Given the description of an element on the screen output the (x, y) to click on. 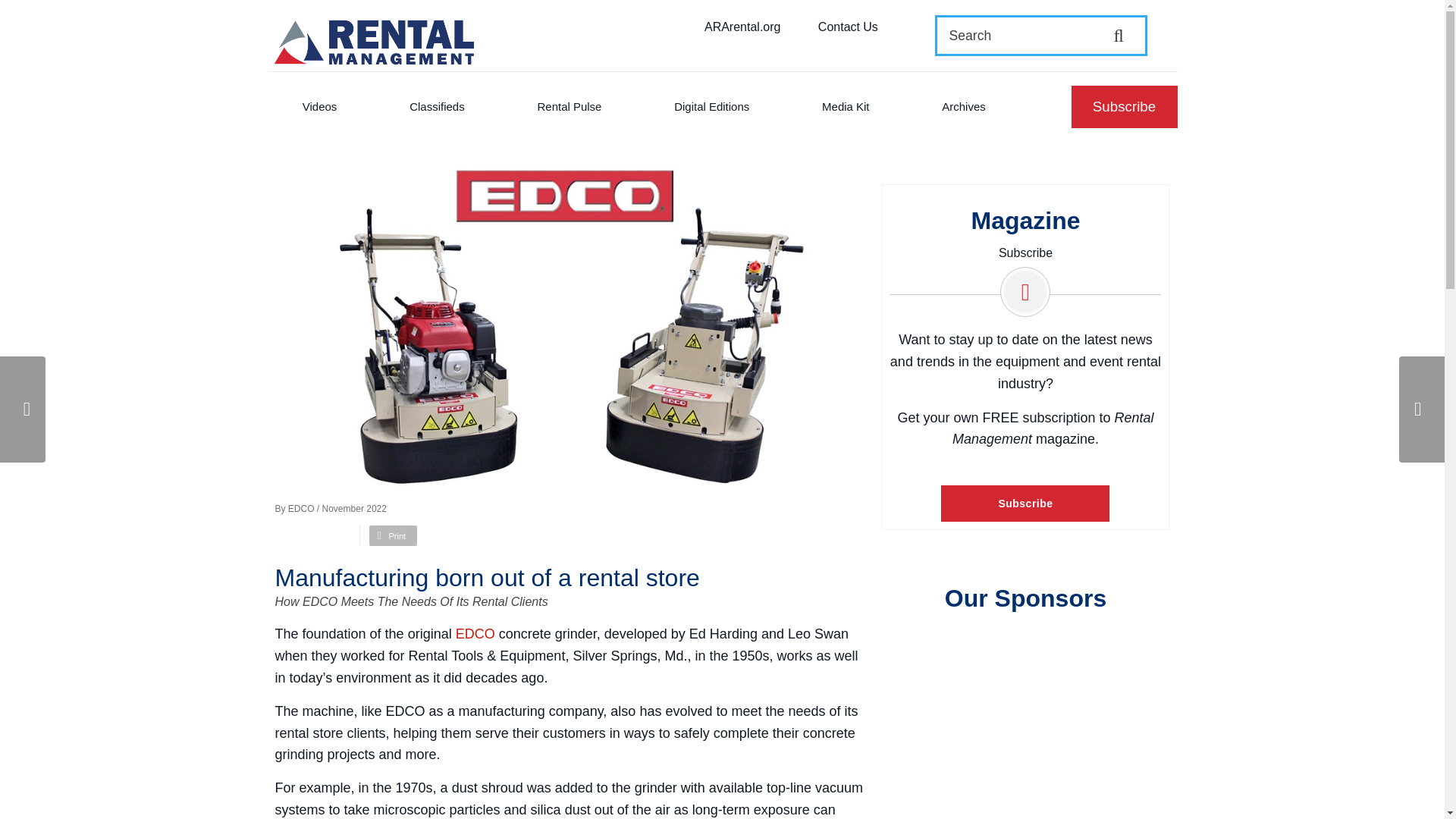
Search (1025, 35)
ARArental.org (743, 27)
Contact Us (847, 27)
